Given the description of an element on the screen output the (x, y) to click on. 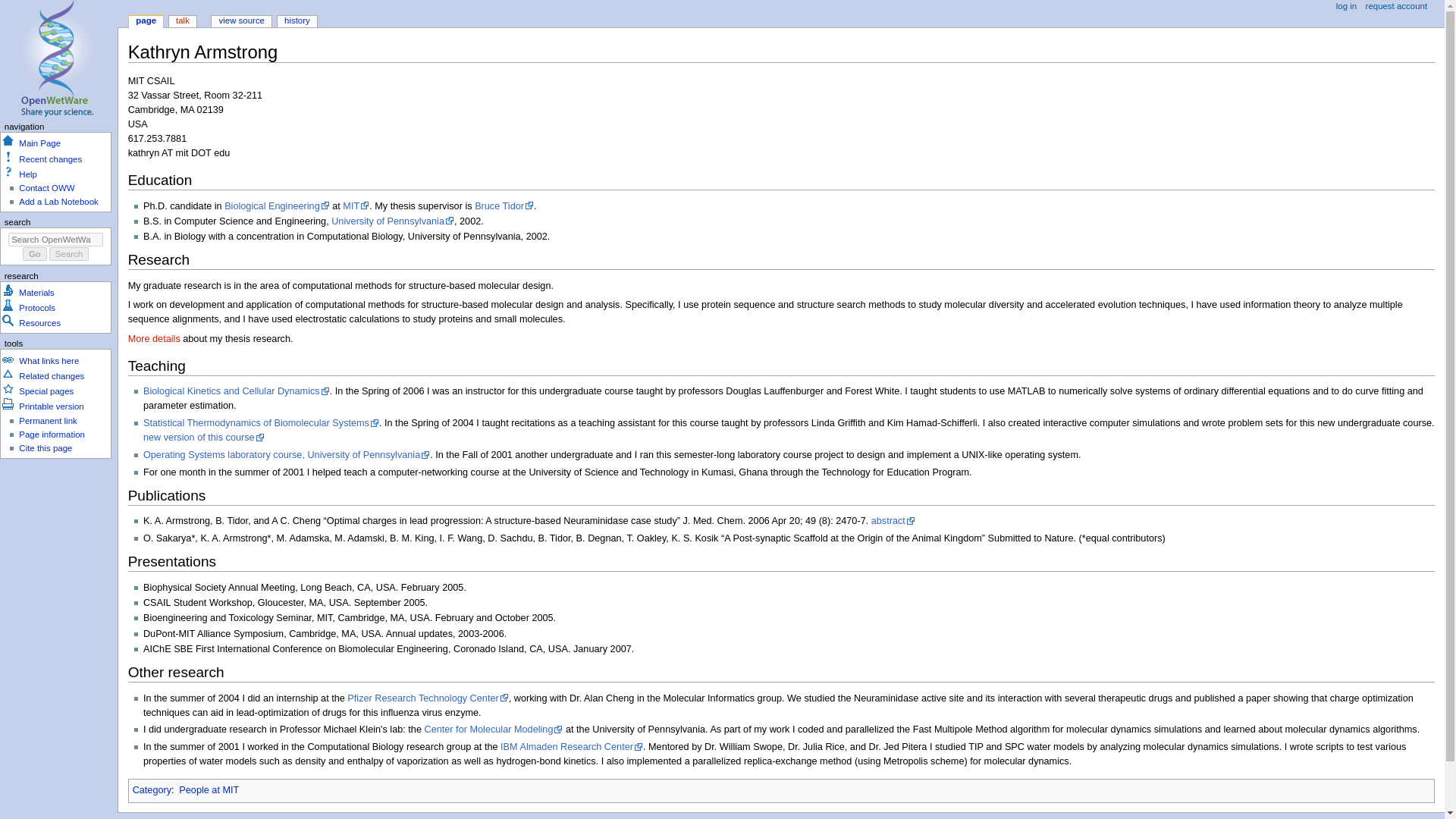
abstract (892, 520)
Search (68, 254)
Biological Kinetics and Cellular Dynamics (236, 390)
Go (34, 254)
Help (27, 174)
Statistical Thermodynamics of Biomolecular Systems (260, 422)
Search the pages for this text (68, 254)
view source (240, 21)
Biological Engineering (277, 205)
The place to find out (27, 174)
Main Page (39, 143)
page (146, 21)
Special:Categories (151, 789)
Bruce Tidor (504, 205)
